Given the description of an element on the screen output the (x, y) to click on. 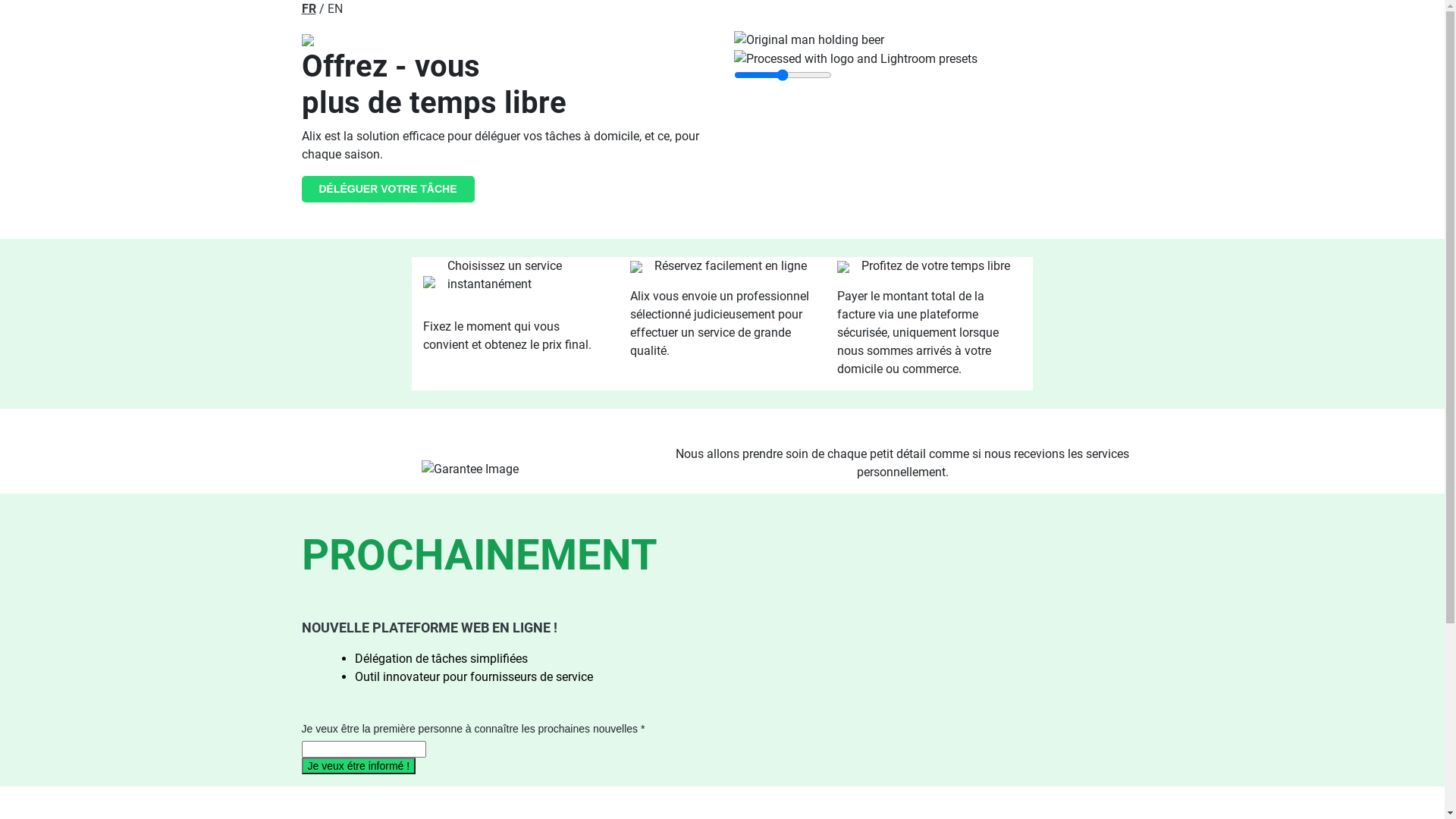
EN Element type: text (334, 8)
FR Element type: text (308, 8)
